Given the description of an element on the screen output the (x, y) to click on. 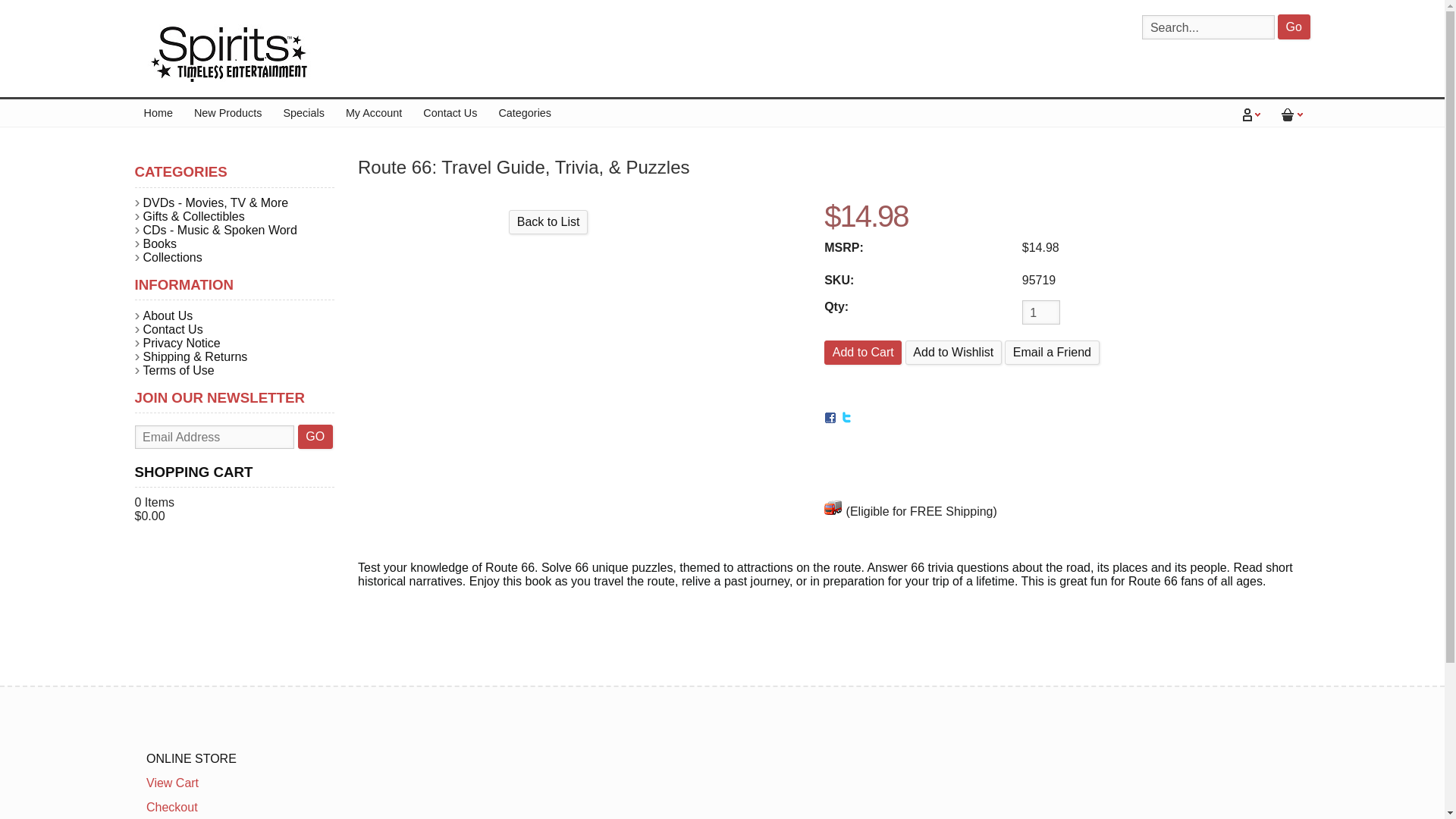
Search... (1207, 27)
Home (158, 112)
My Account (373, 112)
My Account (373, 112)
Specials (303, 112)
Specials (303, 112)
Contact Us (449, 112)
Add to Wishlist (953, 352)
1 (1040, 312)
Search... (1207, 27)
